Given the description of an element on the screen output the (x, y) to click on. 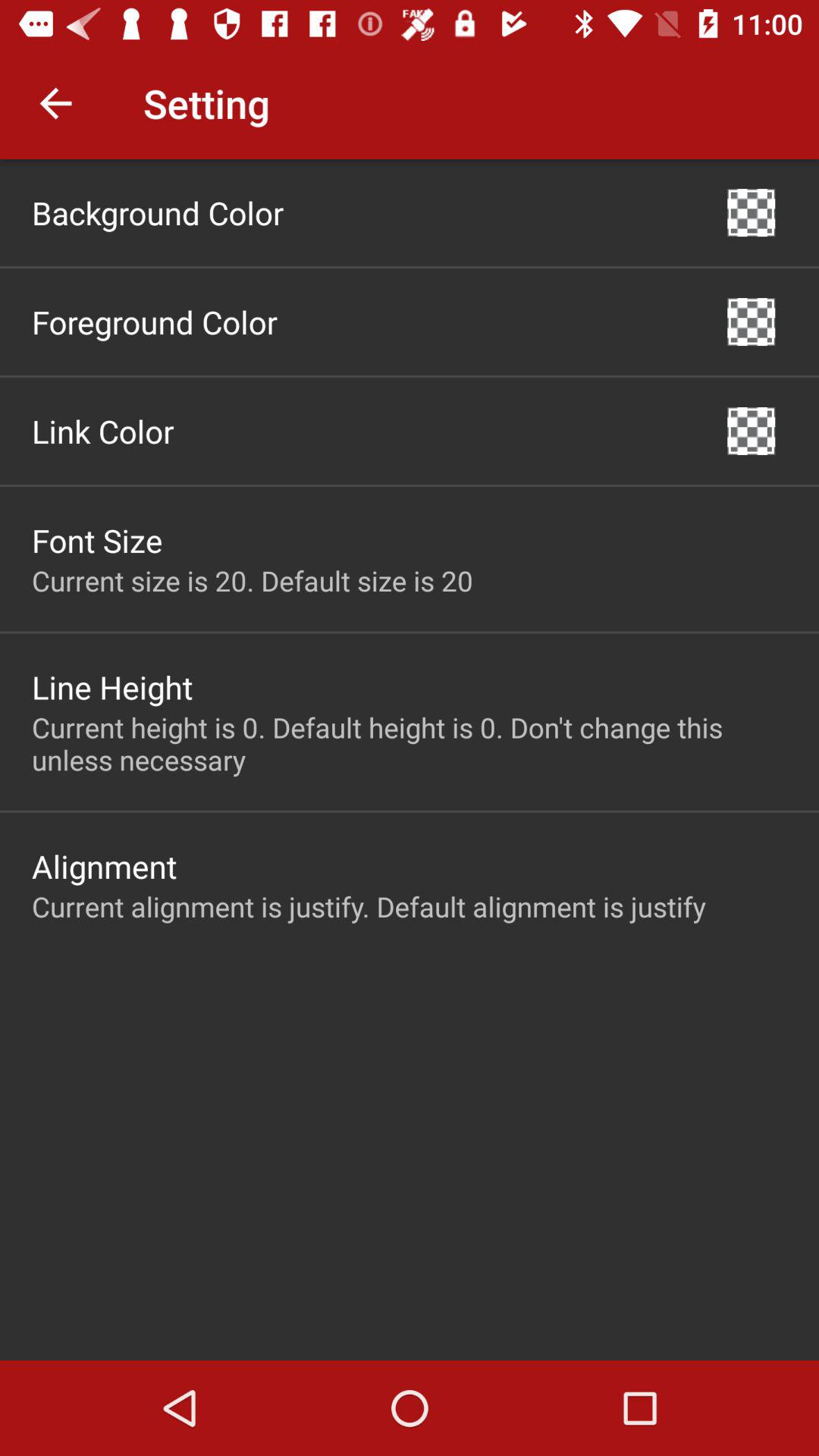
turn on item above the background color (55, 103)
